Given the description of an element on the screen output the (x, y) to click on. 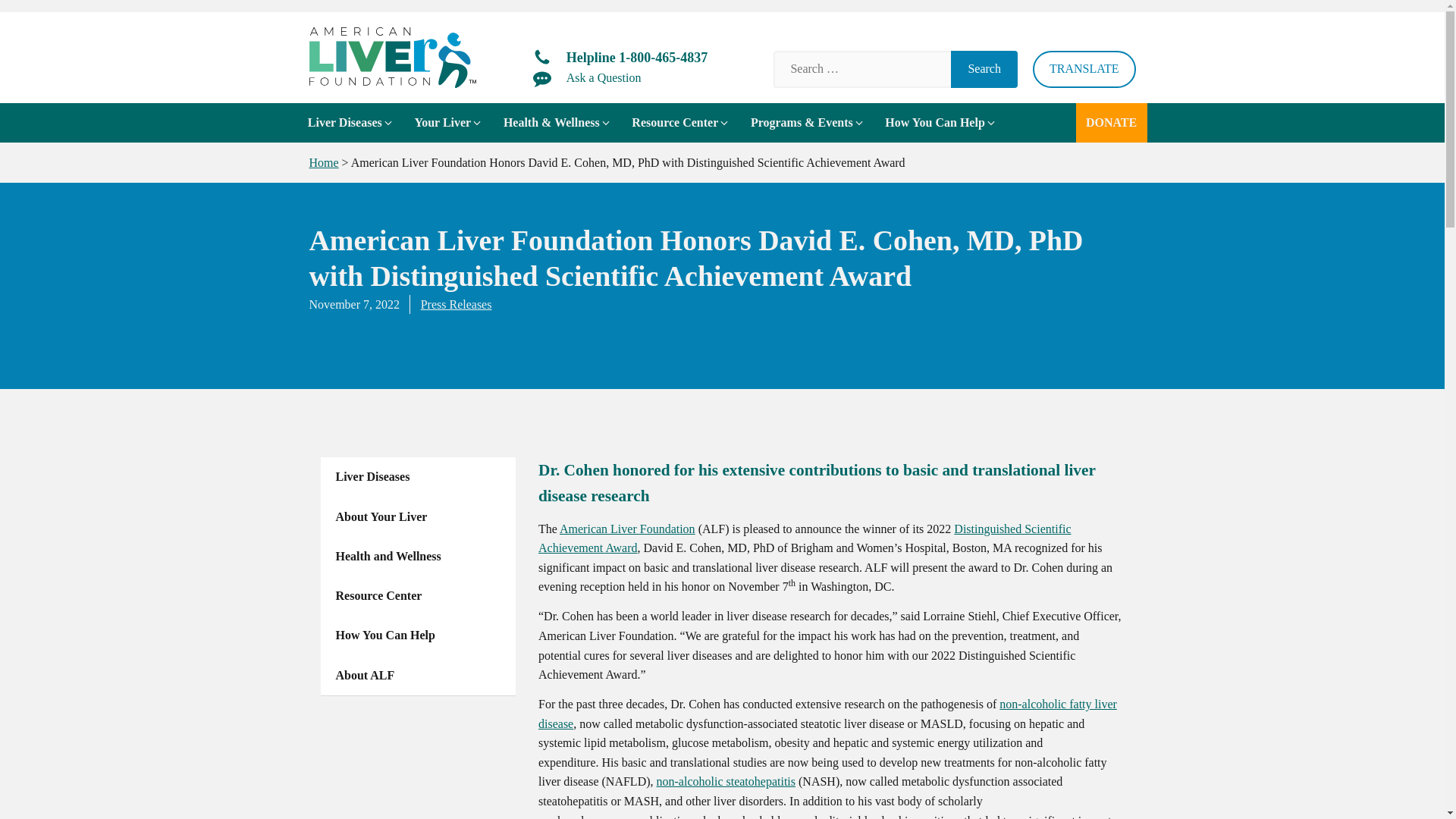
TRANSLATE (1083, 68)
Search (983, 68)
Go to American Liver Foundation. (323, 162)
Search (983, 68)
Search (983, 68)
Ask a Question (587, 77)
Helpline 1-800-465-4837 (619, 57)
Liver Diseases (350, 122)
